Given the description of an element on the screen output the (x, y) to click on. 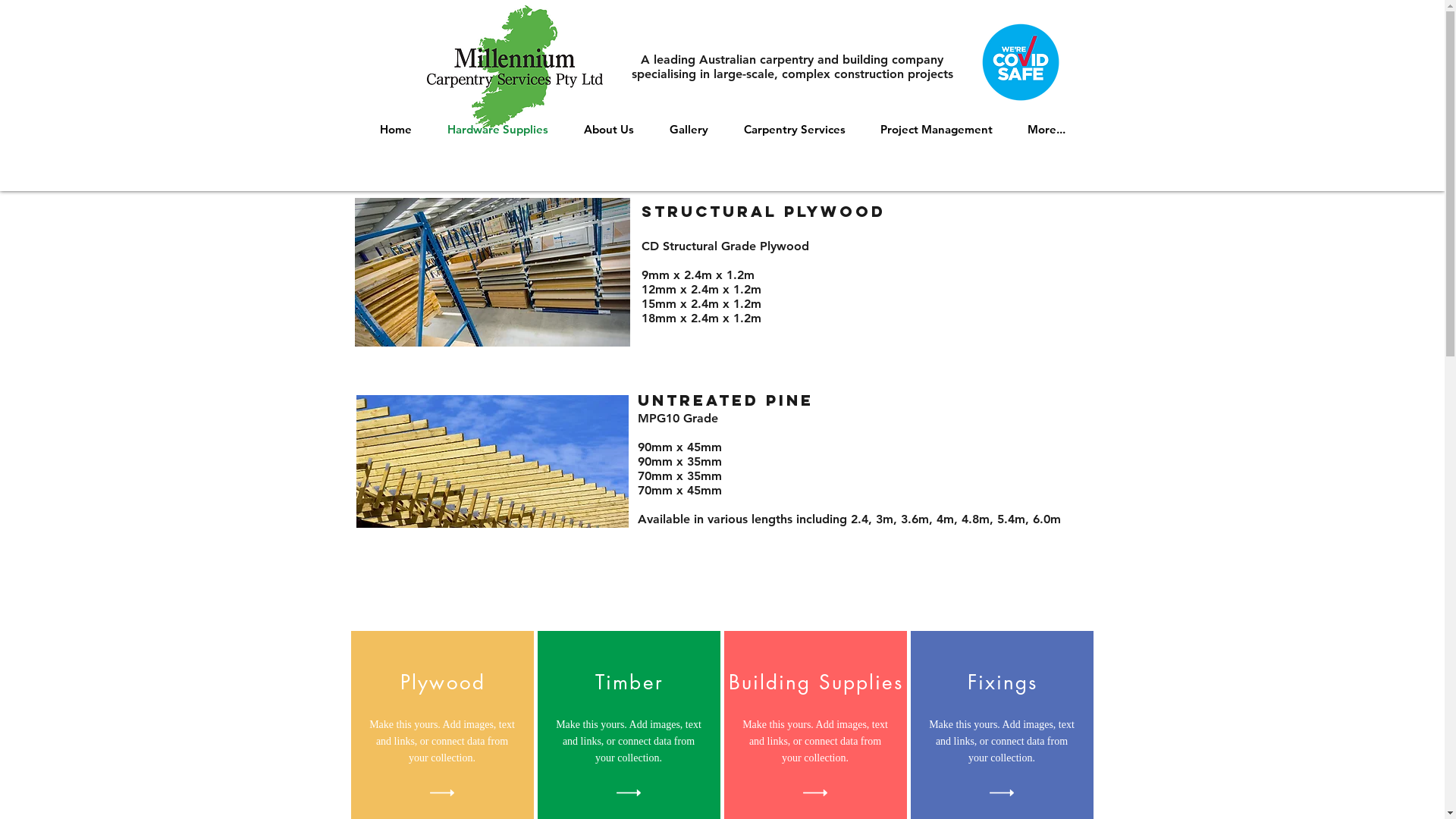
About Us Element type: text (608, 129)
Gallery Element type: text (689, 129)
Project Management Element type: text (936, 129)
Home Element type: text (395, 129)
COVID_Safe_Badge_Digital.png Element type: hover (1019, 61)
Carpentry Services Element type: text (794, 129)
Hardware Supplies Element type: text (497, 129)
